Given the description of an element on the screen output the (x, y) to click on. 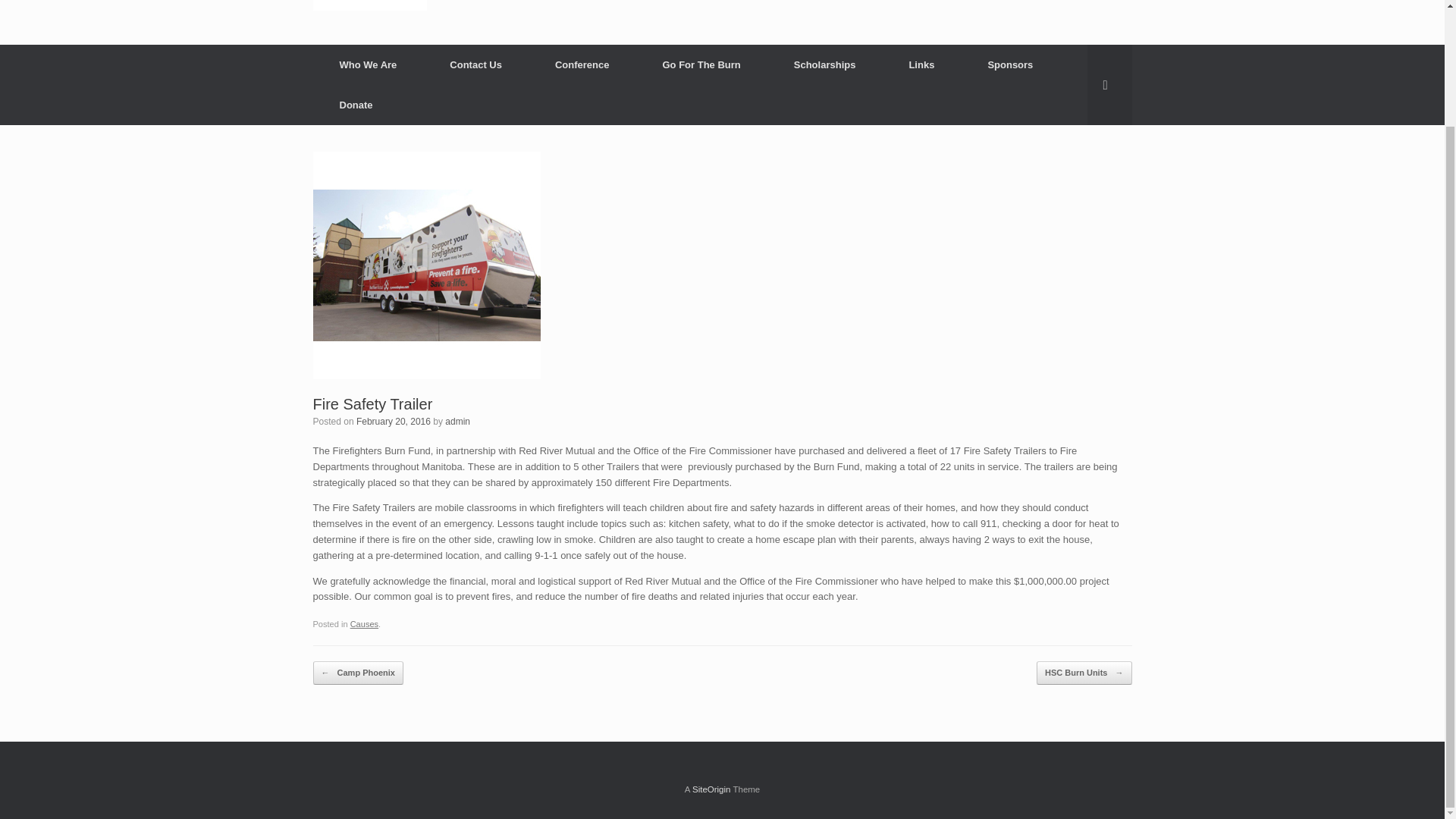
Donate (355, 105)
Mamingwey Burn Society (531, 5)
February 20, 2016 (393, 421)
Contact Us (475, 65)
admin (457, 421)
Links (921, 65)
Conference (582, 65)
View all posts by admin (457, 421)
Mamingwey Burn Society (531, 5)
Scholarships (824, 65)
